Given the description of an element on the screen output the (x, y) to click on. 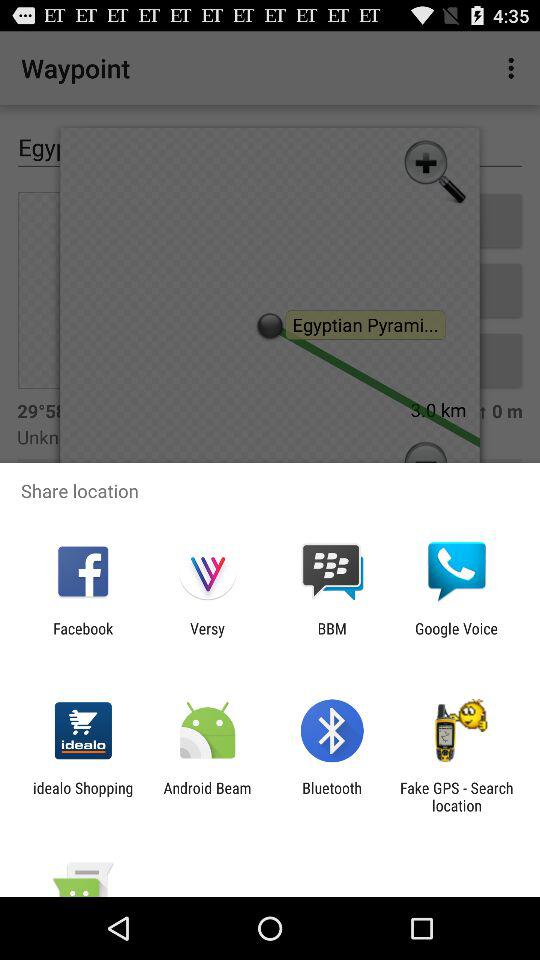
turn off item next to the versy icon (83, 637)
